Given the description of an element on the screen output the (x, y) to click on. 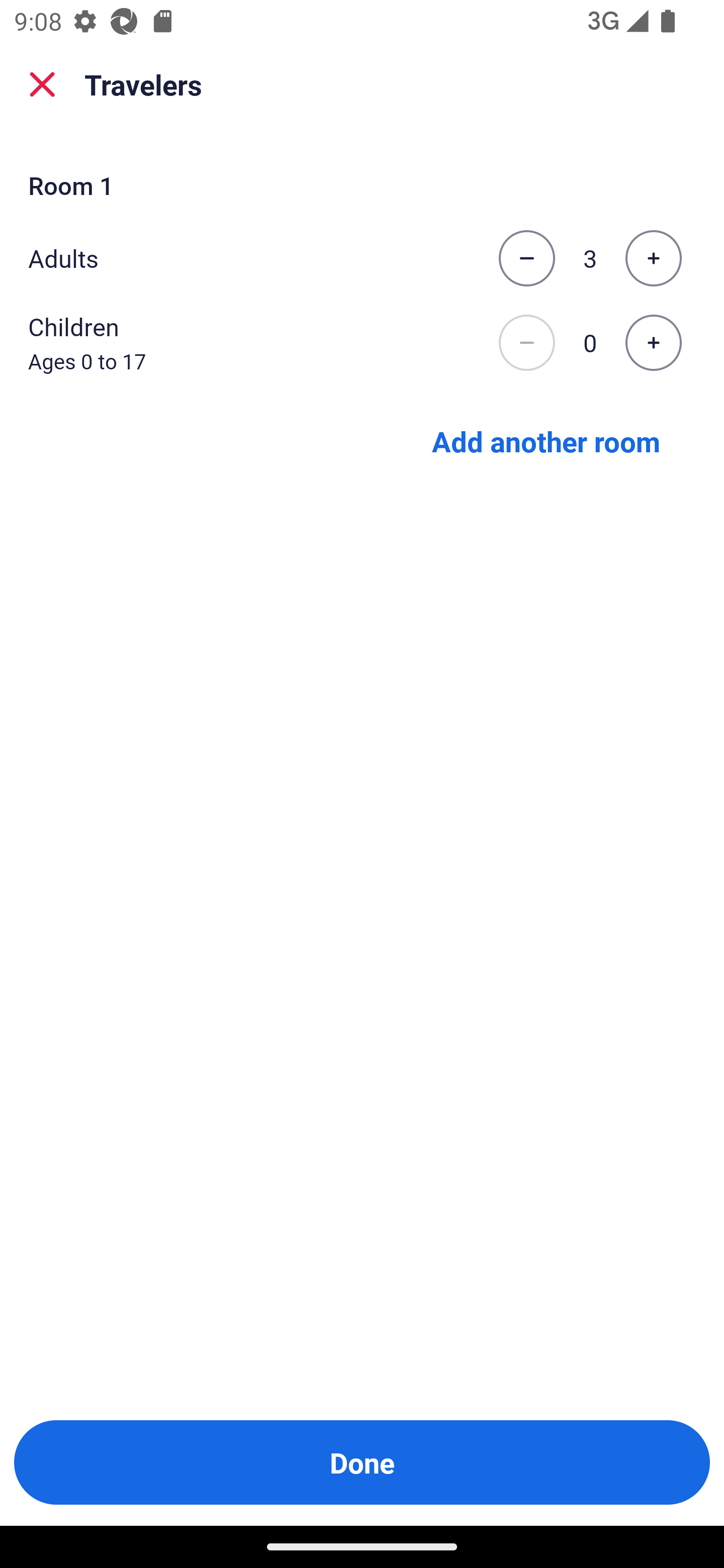
close (42, 84)
Decrease the number of adults (526, 258)
Increase the number of adults (653, 258)
Decrease the number of children (526, 343)
Increase the number of children (653, 343)
Add another room (545, 440)
Done (361, 1462)
